Given the description of an element on the screen output the (x, y) to click on. 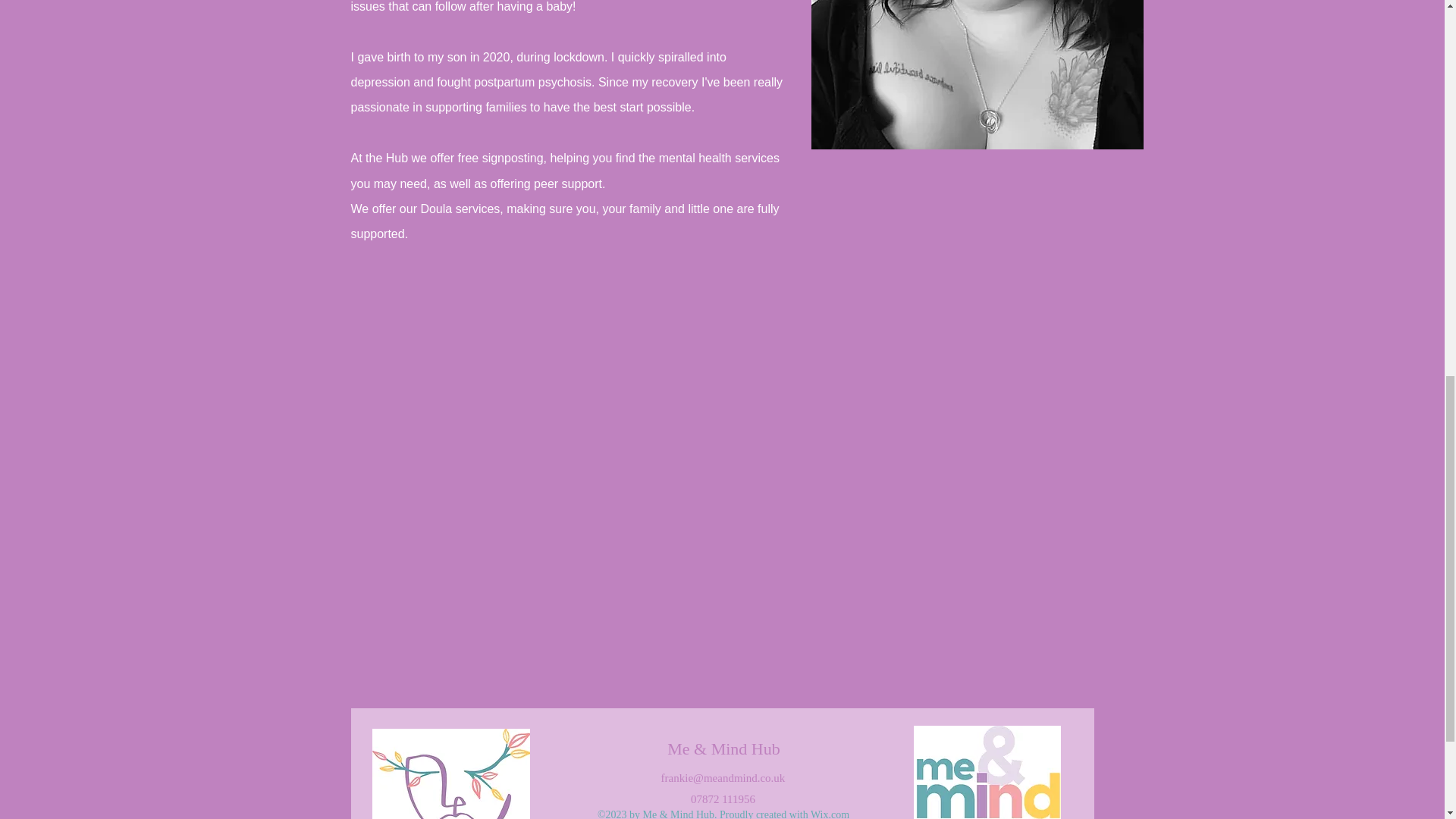
Me and Mind Hub Emblem jpg.jpg (450, 773)
